Given the description of an element on the screen output the (x, y) to click on. 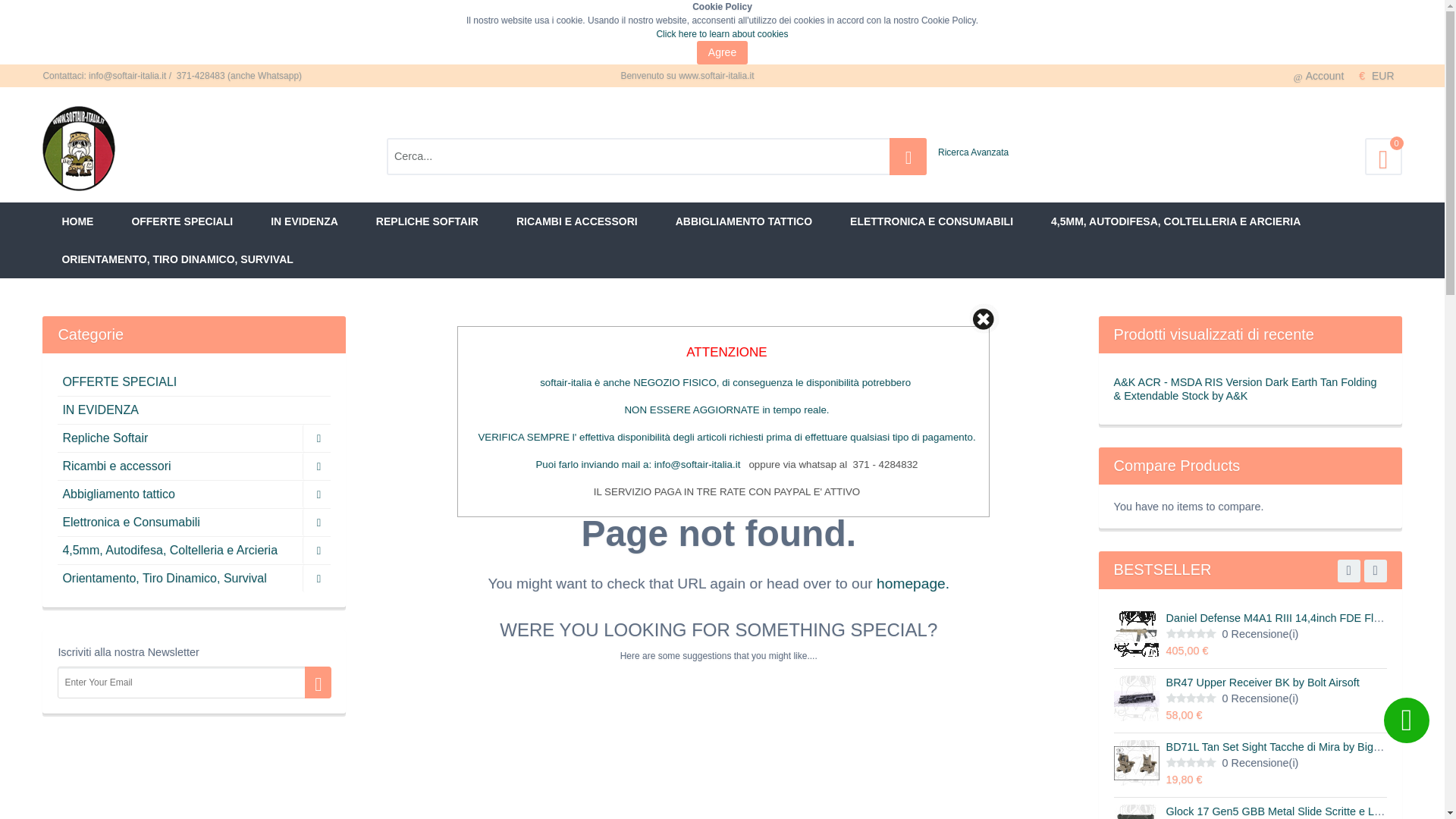
HOME (77, 221)
M4 - M16 Abs 30bb. Low Cap Magazine Tan by Specna Arms (1042, 682)
Puoi farlo inviando mail a: (594, 464)
www.softair-italia.it (78, 112)
JS-TACTICAL Bio Pallini 0,23 High Grade Diametro 5,95mm. (1040, 811)
OFFERTE SPECIALI (181, 221)
Cerca... (589, 156)
Sottoscrivi (194, 682)
Agree (722, 52)
REPLICHE SOFTAIR (426, 221)
